Given the description of an element on the screen output the (x, y) to click on. 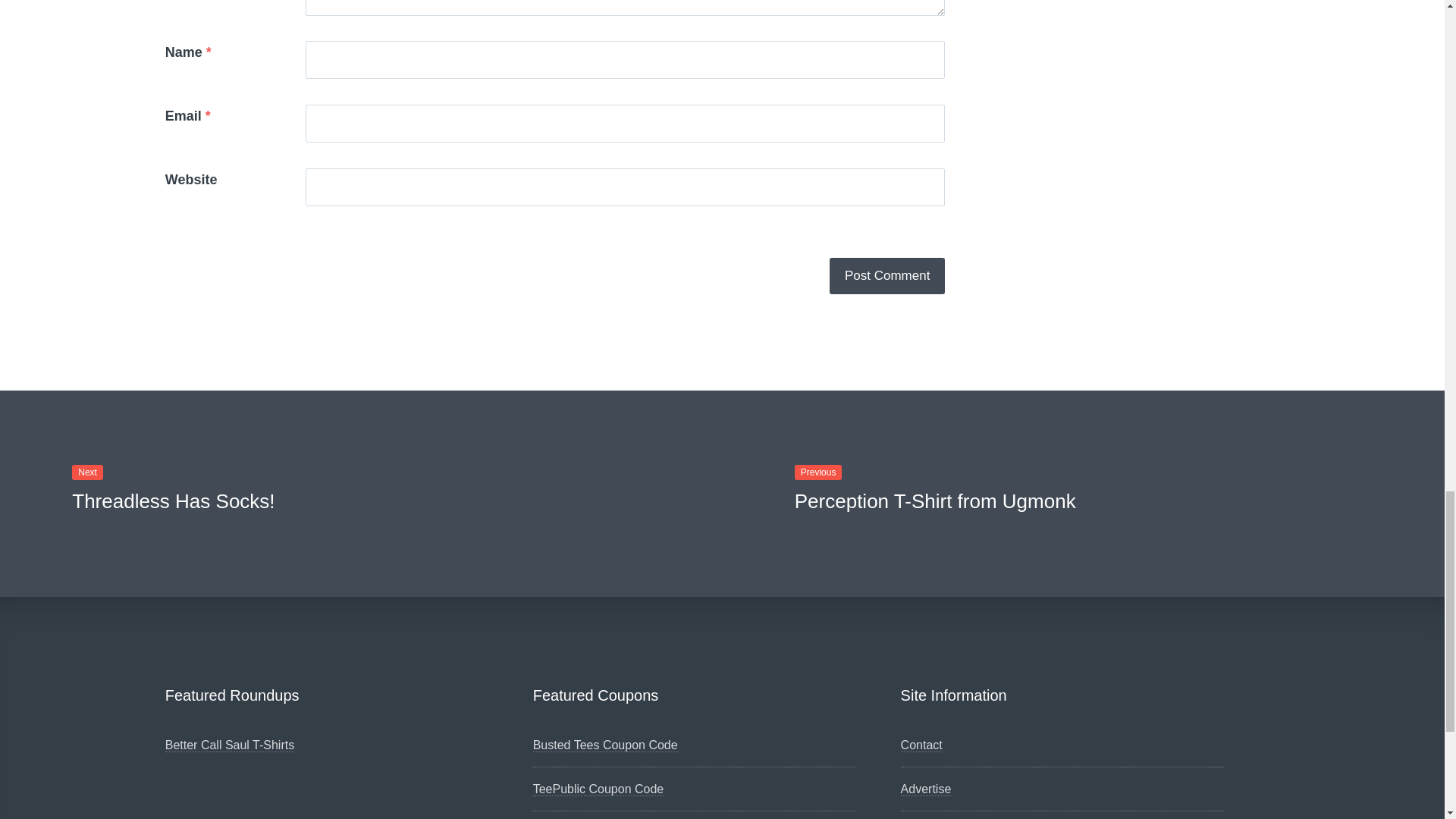
Post Comment (886, 275)
